Given the description of an element on the screen output the (x, y) to click on. 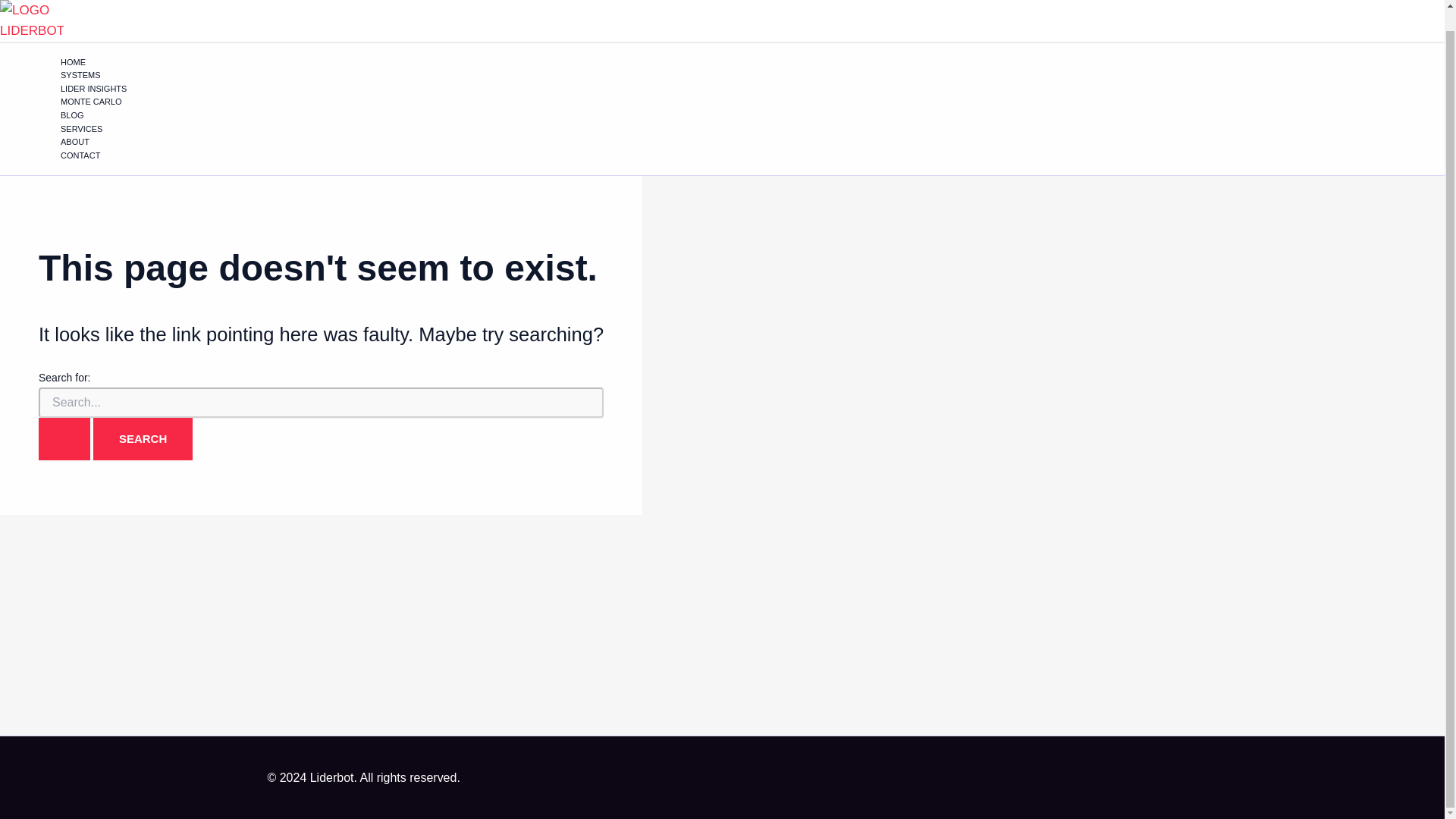
SYSTEMS (106, 75)
CONTACT (106, 155)
BLOG (106, 115)
Search (142, 438)
Search (142, 438)
MONTE CARLO (106, 101)
SERVICES (106, 129)
LIDER INSIGHTS (106, 89)
HOME (106, 62)
ABOUT (106, 142)
